Given the description of an element on the screen output the (x, y) to click on. 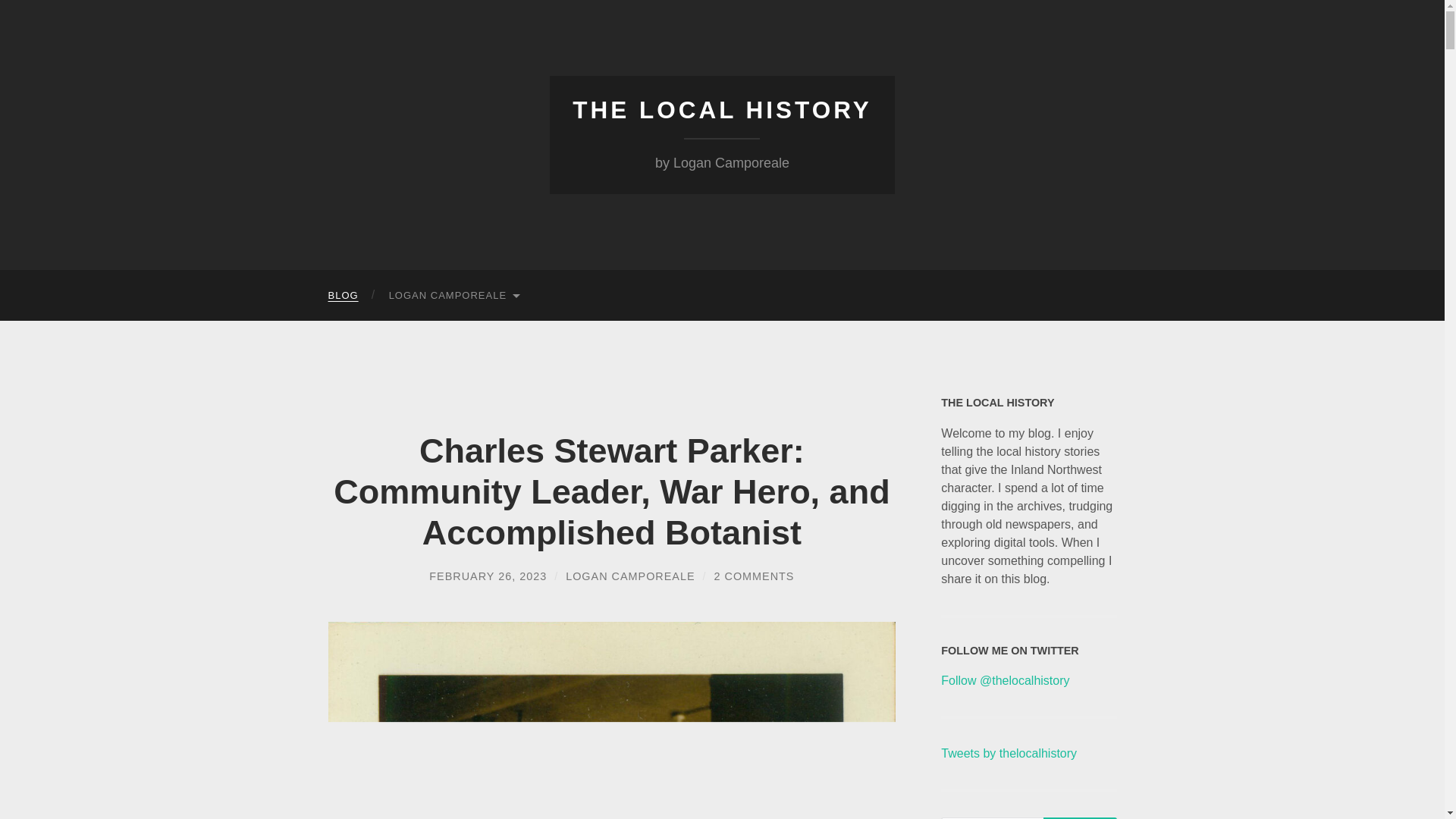
LOGAN CAMPOREALE (453, 295)
FEBRUARY 26, 2023 (488, 576)
LOGAN CAMPOREALE (630, 576)
Posts by Logan Camporeale (630, 576)
THE LOCAL HISTORY (722, 109)
Search (1079, 818)
Search (1079, 818)
2 COMMENTS (754, 576)
BLOG (342, 295)
